Given the description of an element on the screen output the (x, y) to click on. 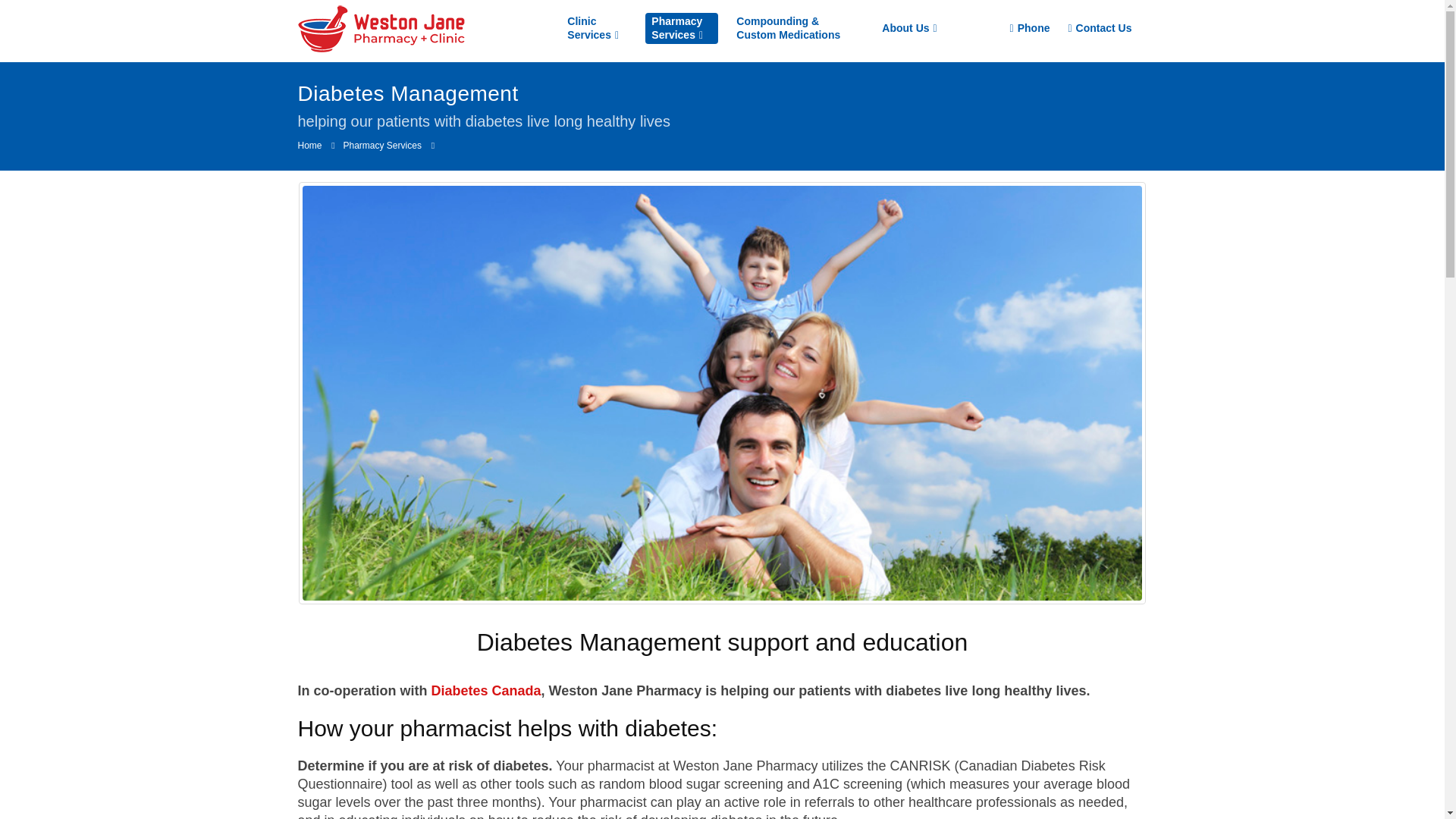
Pharmacy Services (382, 145)
Phone (1027, 28)
Contact Us (1097, 28)
Home (309, 145)
Diabetes Canada (485, 690)
Clinic Services (596, 28)
About Us (909, 27)
Go to Home Page (309, 145)
Pharmacy Services (681, 28)
